Given the description of an element on the screen output the (x, y) to click on. 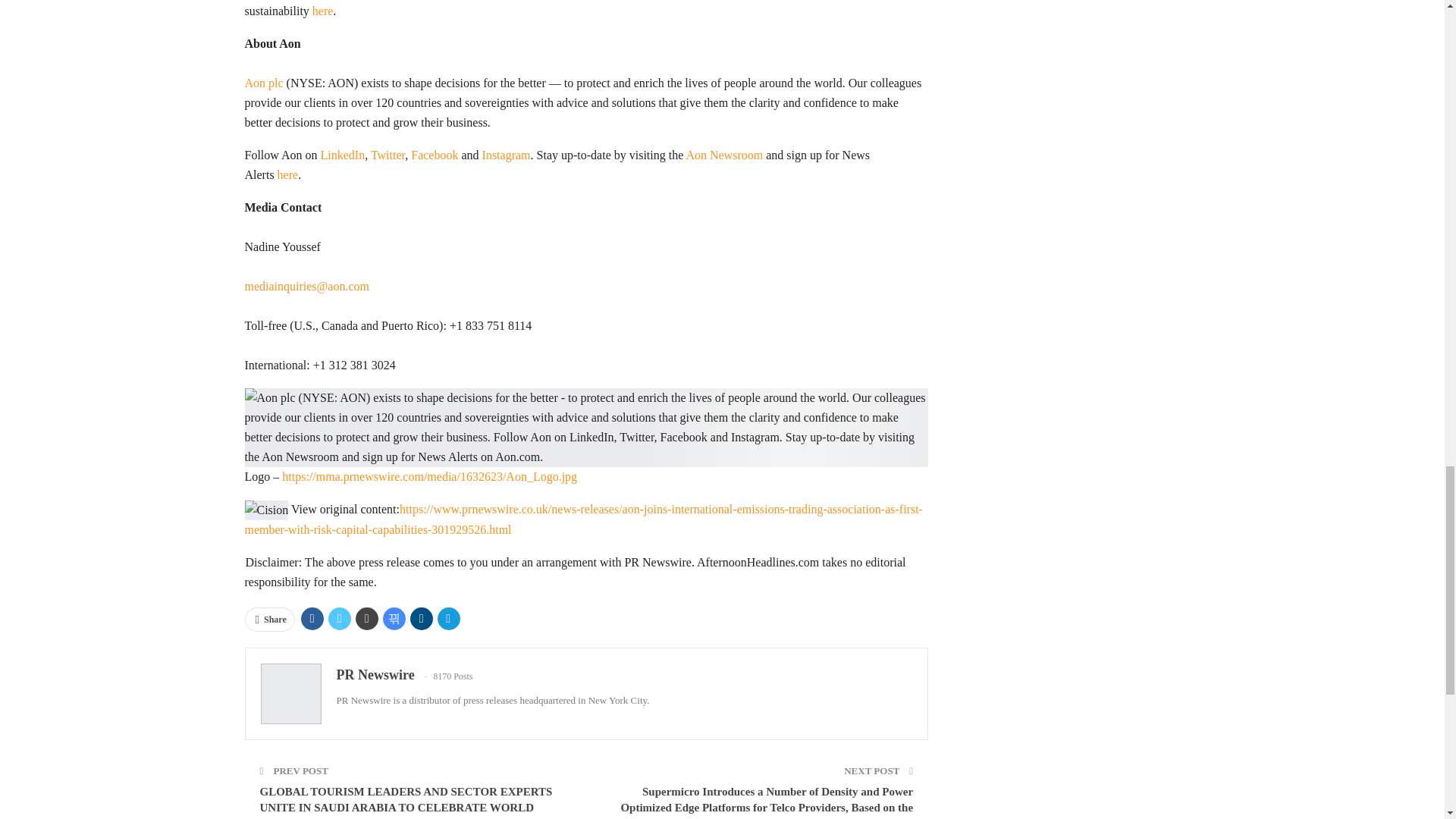
Cision (266, 510)
